Given the description of an element on the screen output the (x, y) to click on. 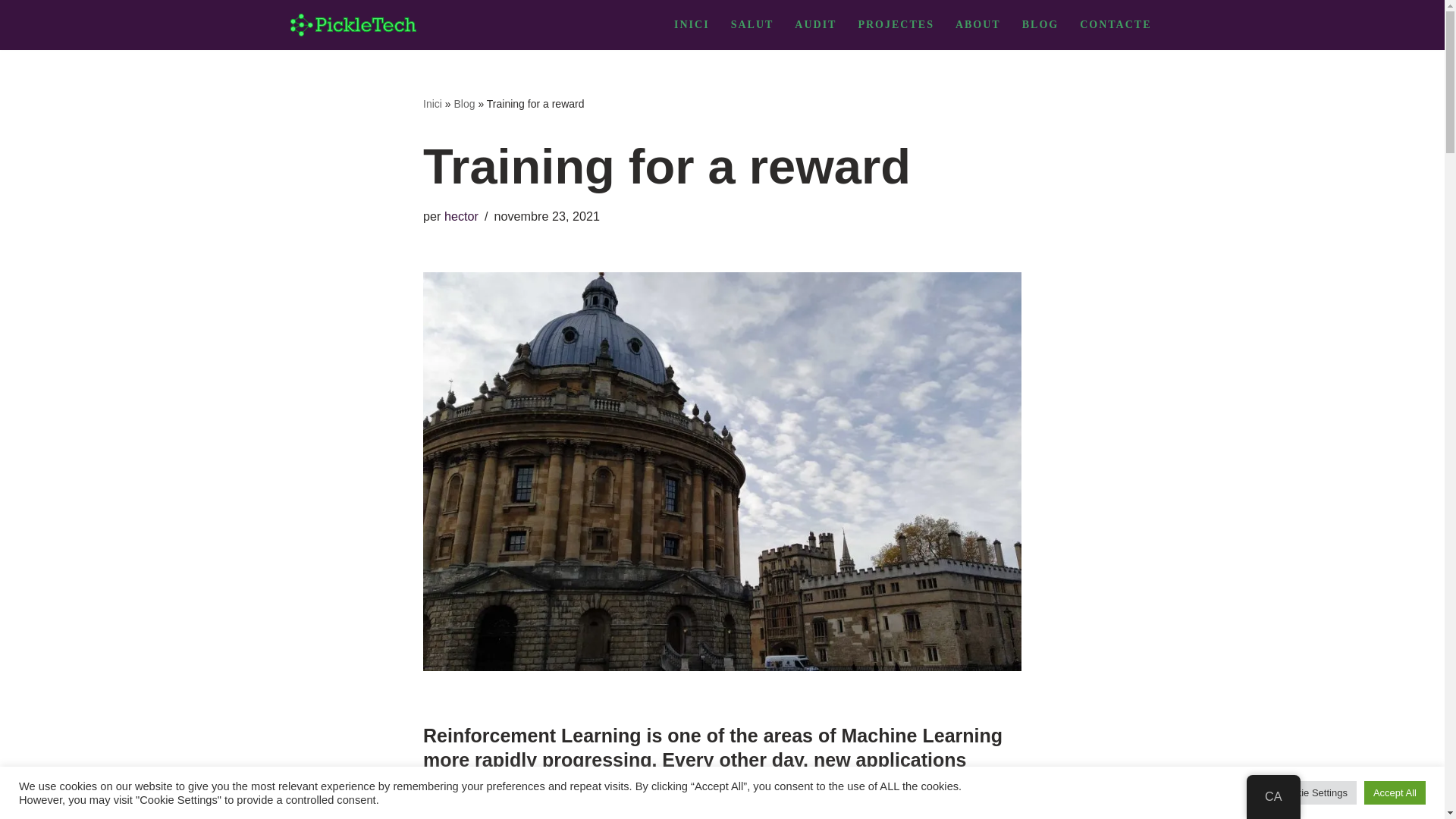
Entrades de hector (461, 215)
Omet al contingut (11, 31)
Blog (463, 103)
hector (461, 215)
Inici (432, 103)
ABOUT (978, 24)
SALUT (752, 24)
AUDIT (814, 24)
BLOG (1040, 24)
CONTACTE (1115, 24)
INICI (692, 24)
PROJECTES (895, 24)
